Given the description of an element on the screen output the (x, y) to click on. 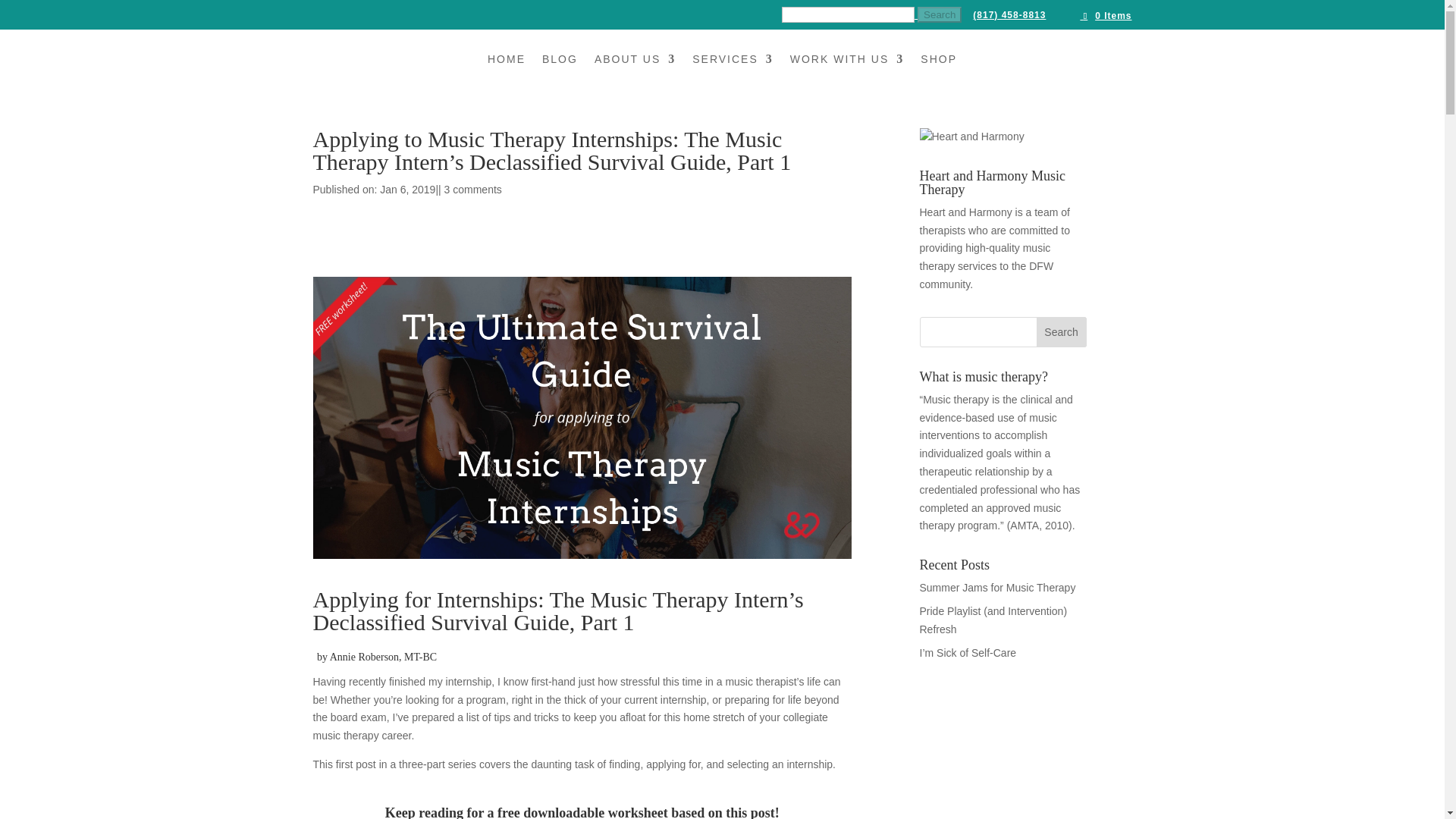
SERVICES (733, 74)
0 Items (1105, 15)
Search (938, 14)
Search (938, 14)
Search (1061, 331)
ABOUT US (634, 74)
Search for: (871, 17)
WORK WITH US (847, 74)
HOME (506, 74)
